Given the description of an element on the screen output the (x, y) to click on. 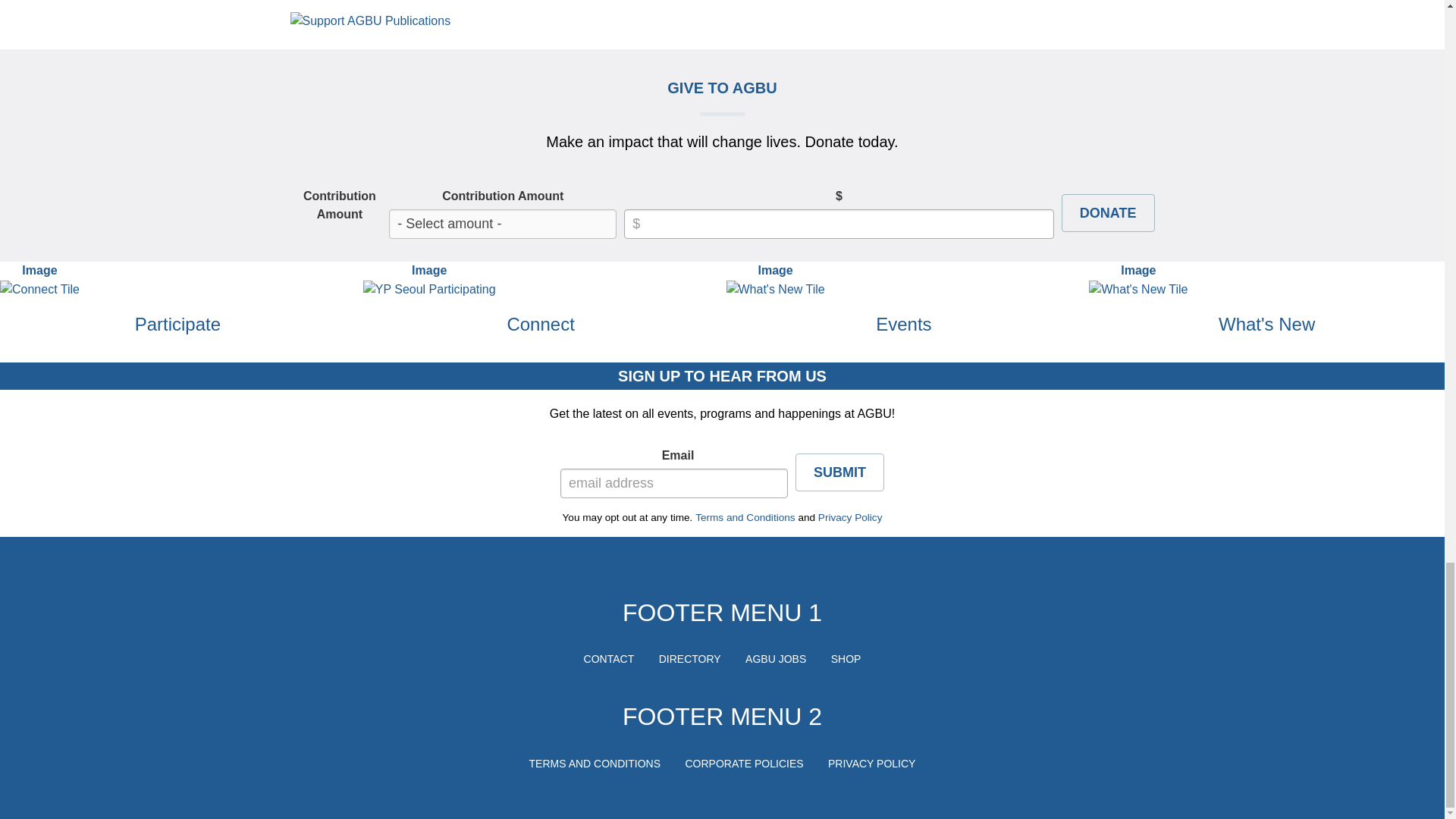
Donate (27, 217)
Submit (27, 555)
